Given the description of an element on the screen output the (x, y) to click on. 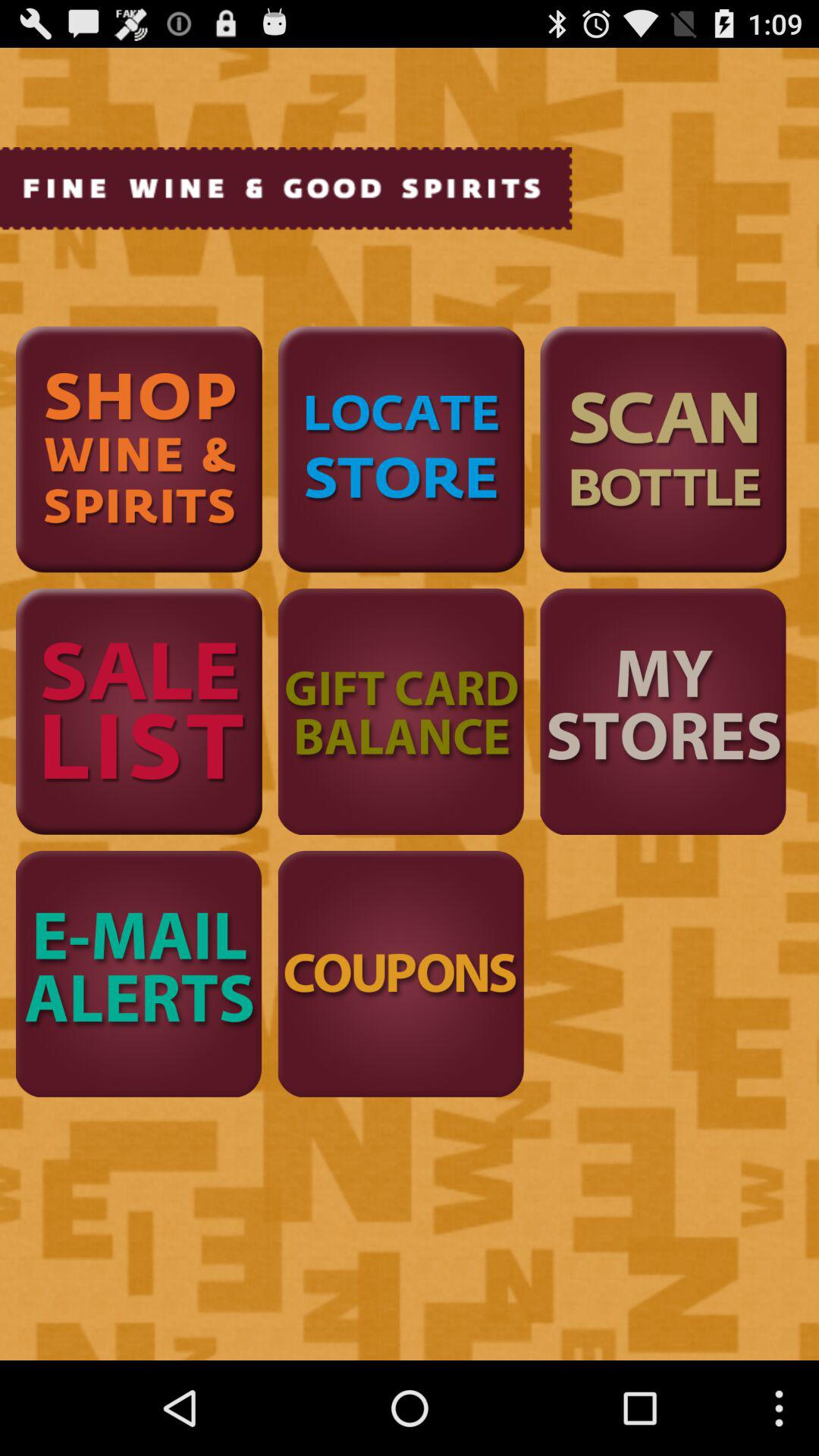
select the sale list (138, 711)
